Given the description of an element on the screen output the (x, y) to click on. 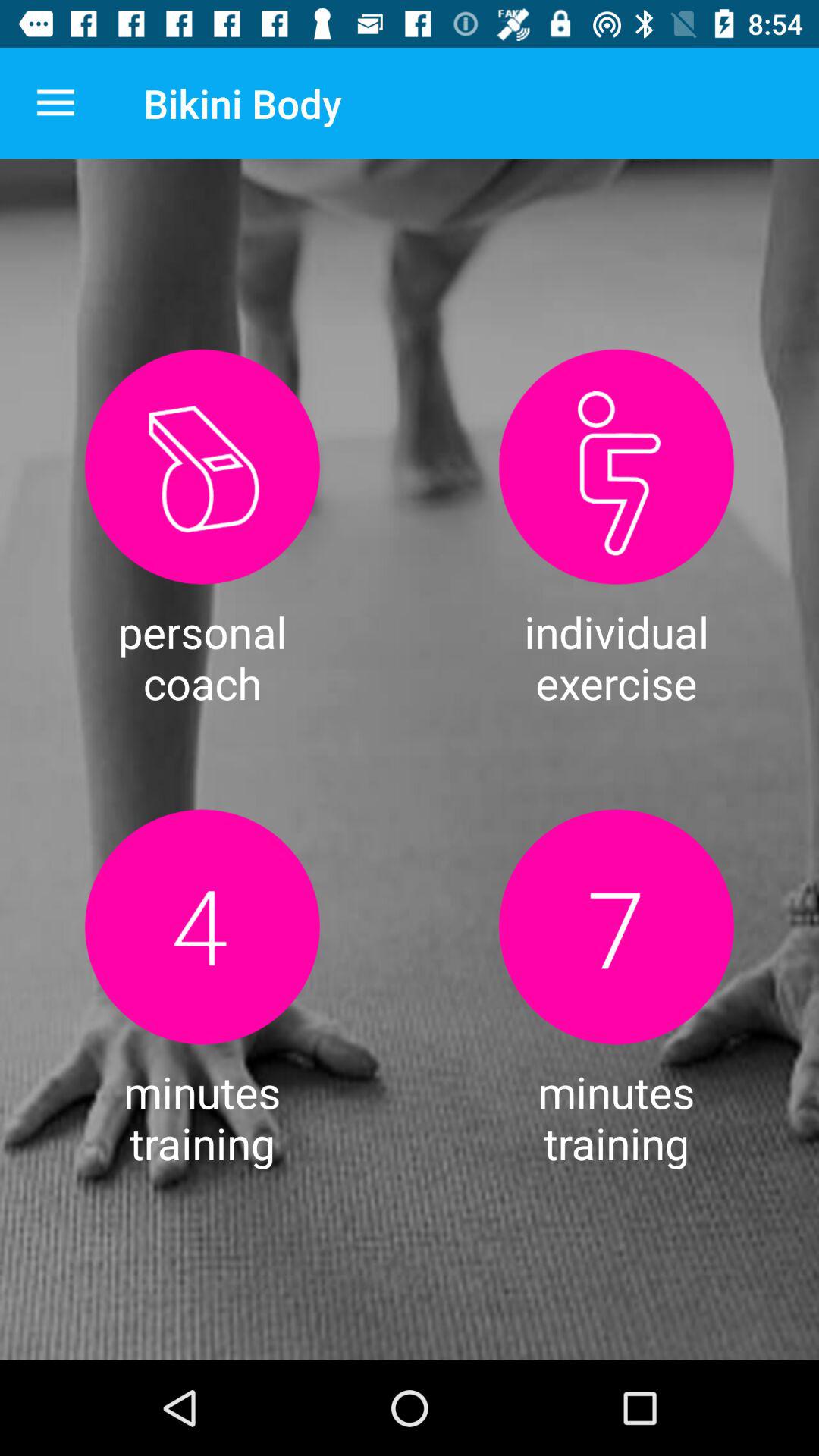
click for personal coach (202, 466)
